Given the description of an element on the screen output the (x, y) to click on. 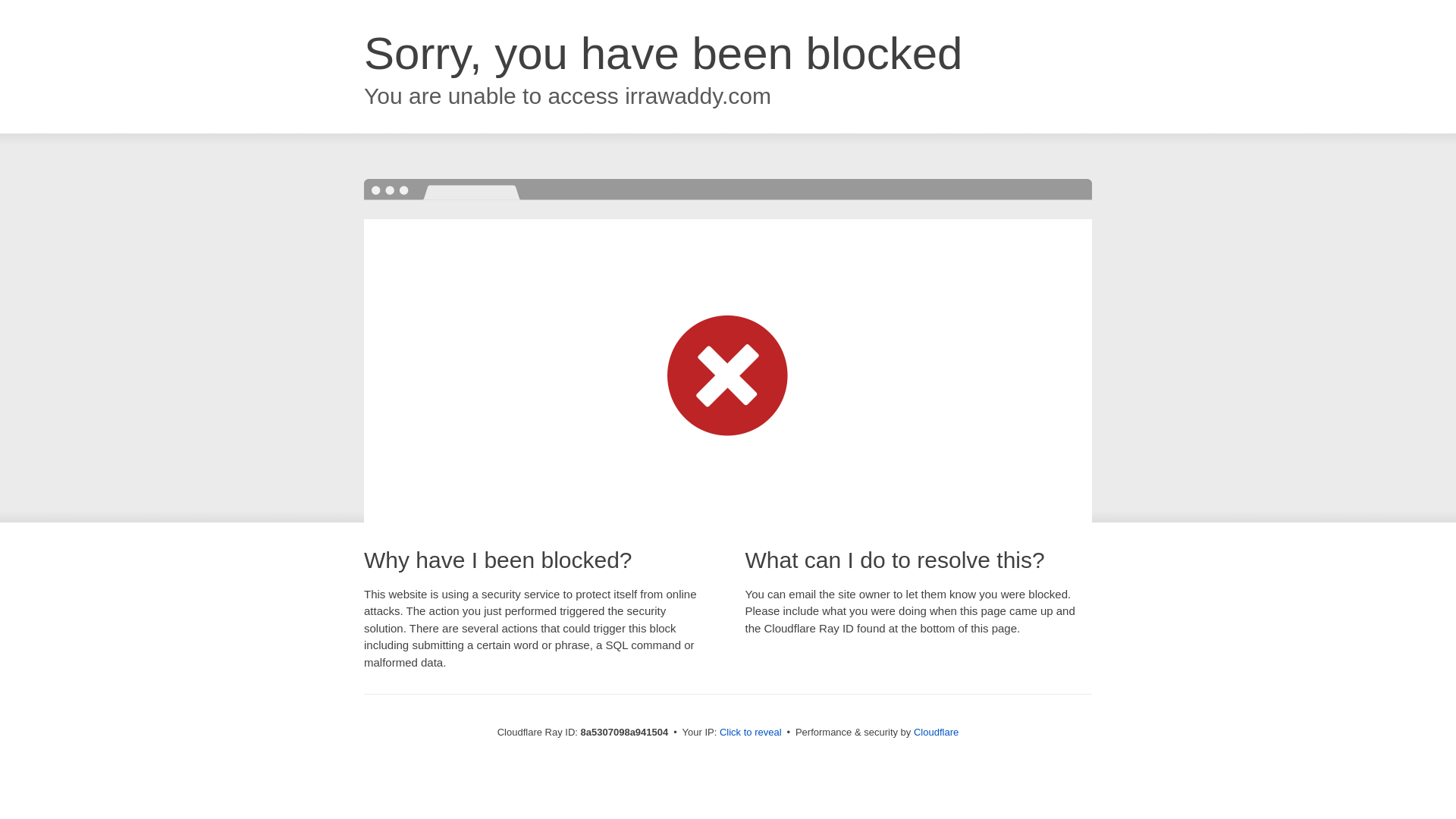
Cloudflare (936, 731)
Click to reveal (750, 732)
